Given the description of an element on the screen output the (x, y) to click on. 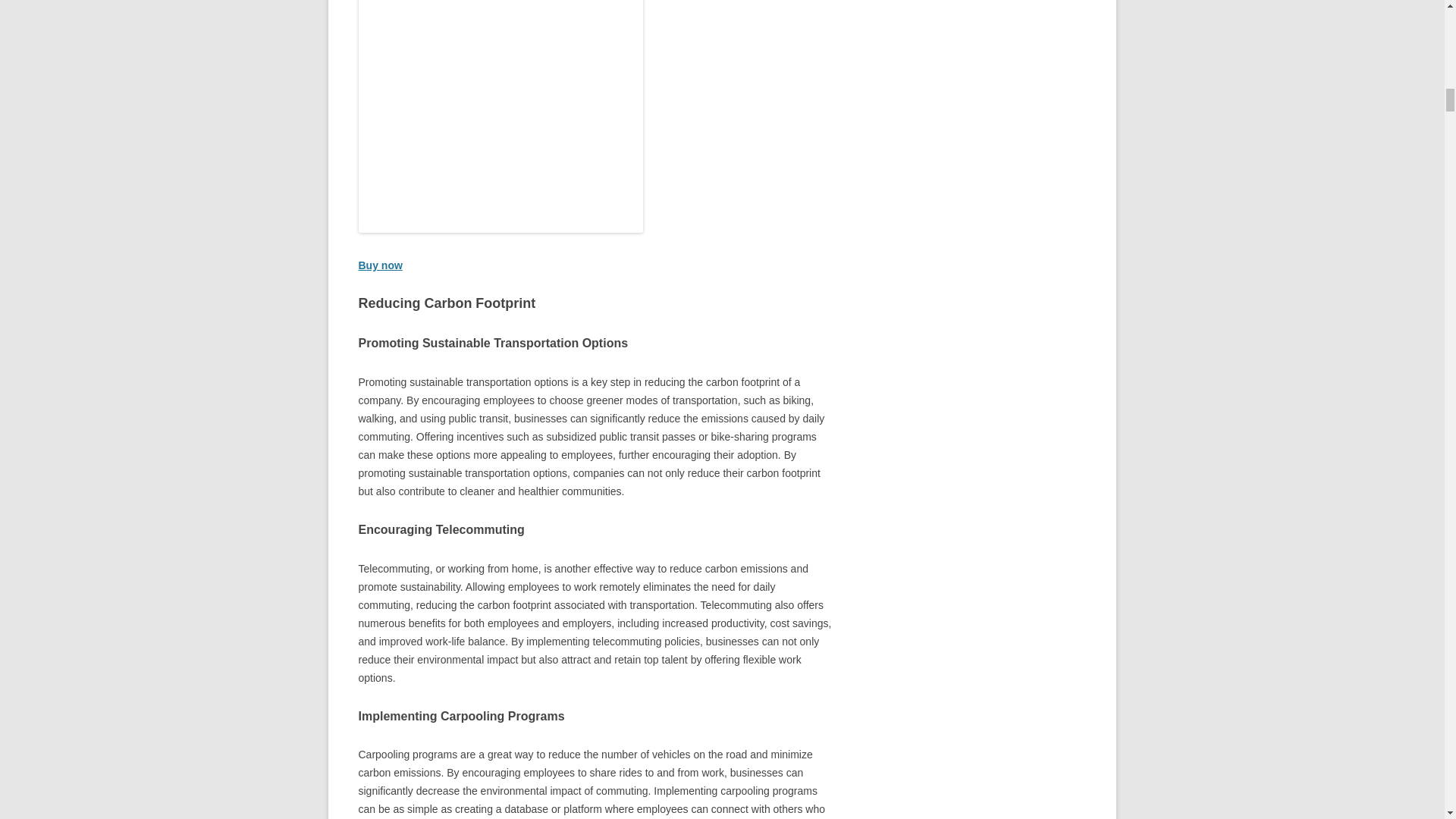
Buy now (379, 265)
Discover more about the Buy now. (379, 265)
Eco-friendly Employee Benefits (500, 116)
